Given the description of an element on the screen output the (x, y) to click on. 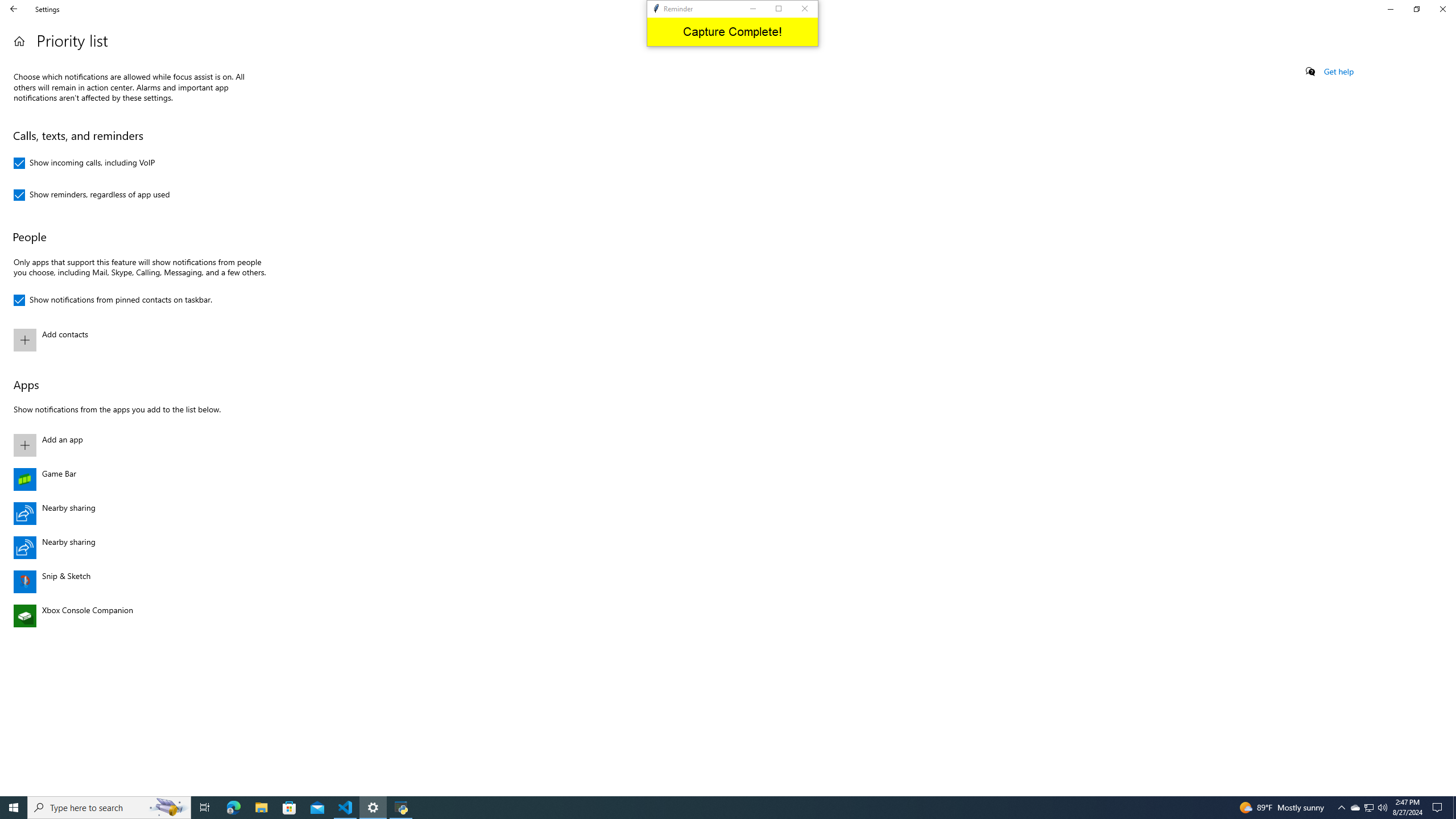
Add an app (137, 445)
Home (19, 40)
Add contacts (137, 339)
